Given the description of an element on the screen output the (x, y) to click on. 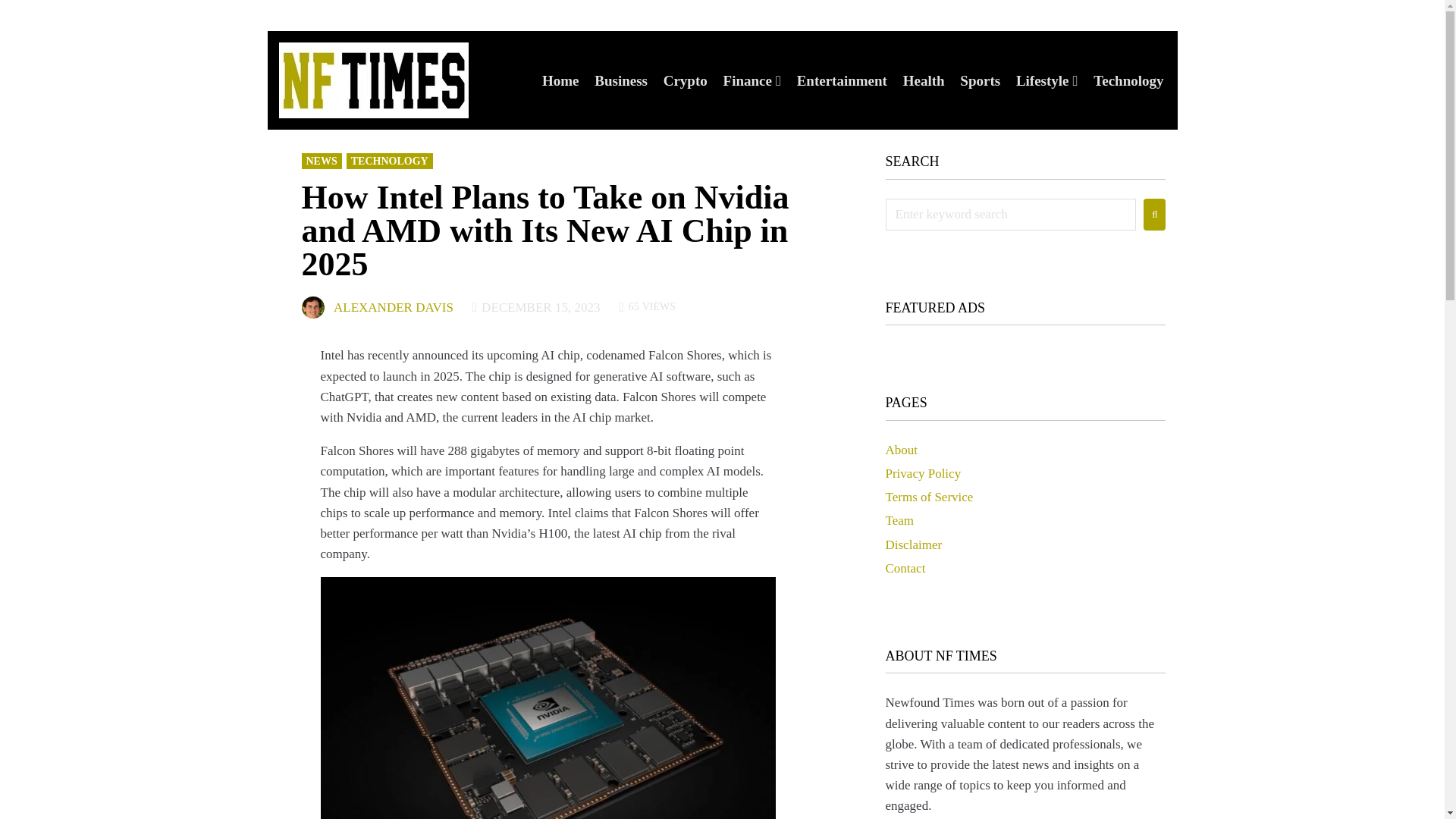
ALEXANDER DAVIS (392, 307)
Crypto (685, 81)
Disclaimer (913, 544)
Team (899, 520)
Technology (1128, 81)
About (901, 450)
Business (620, 81)
Lifestyle (1042, 81)
Entertainment (841, 81)
Privacy Policy (922, 473)
Contact (905, 568)
Finance (747, 81)
Home (560, 81)
Sports (979, 81)
Health (923, 81)
